Given the description of an element on the screen output the (x, y) to click on. 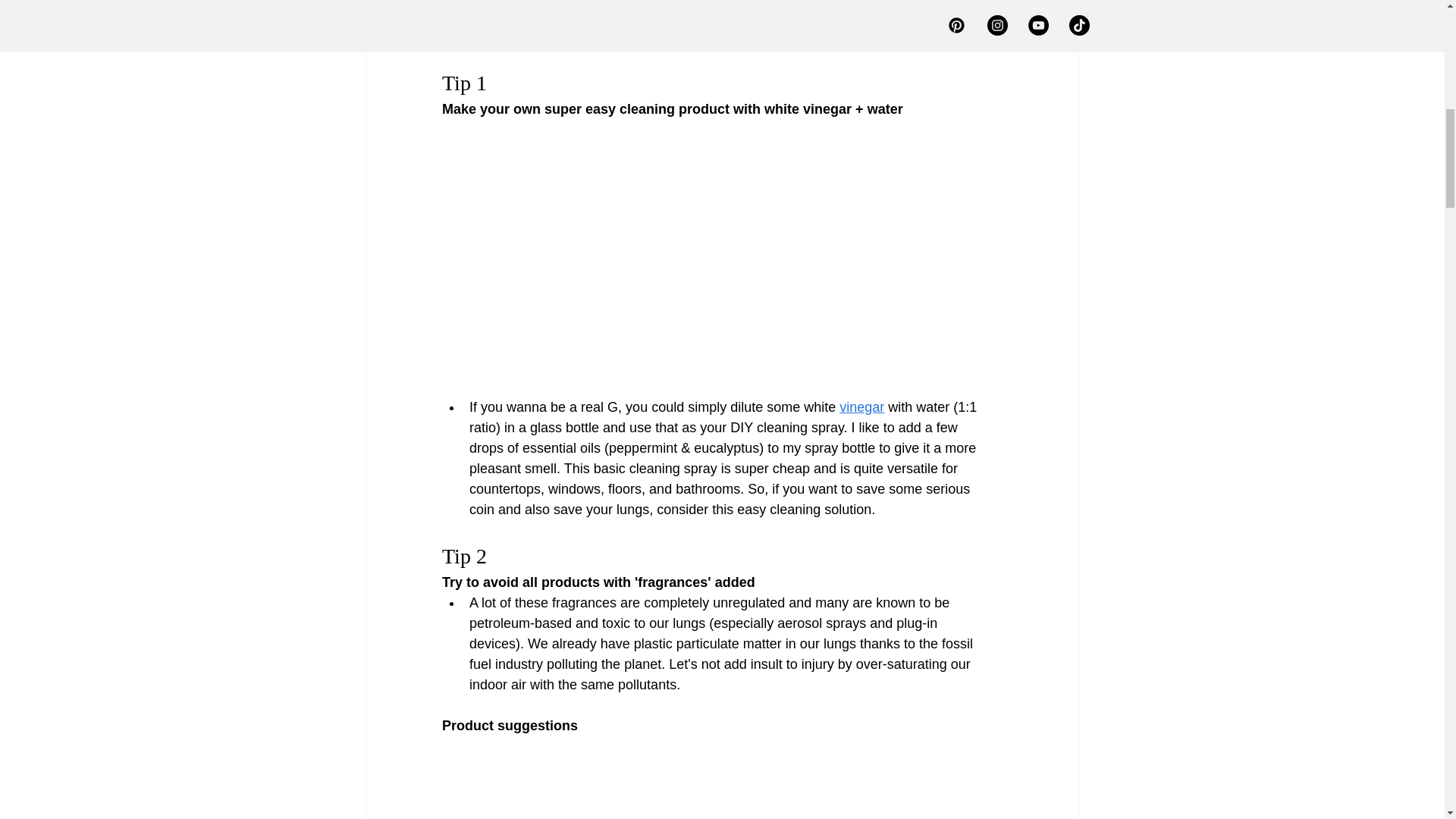
Amazon (601, 15)
vinegar (861, 406)
